Given the description of an element on the screen output the (x, y) to click on. 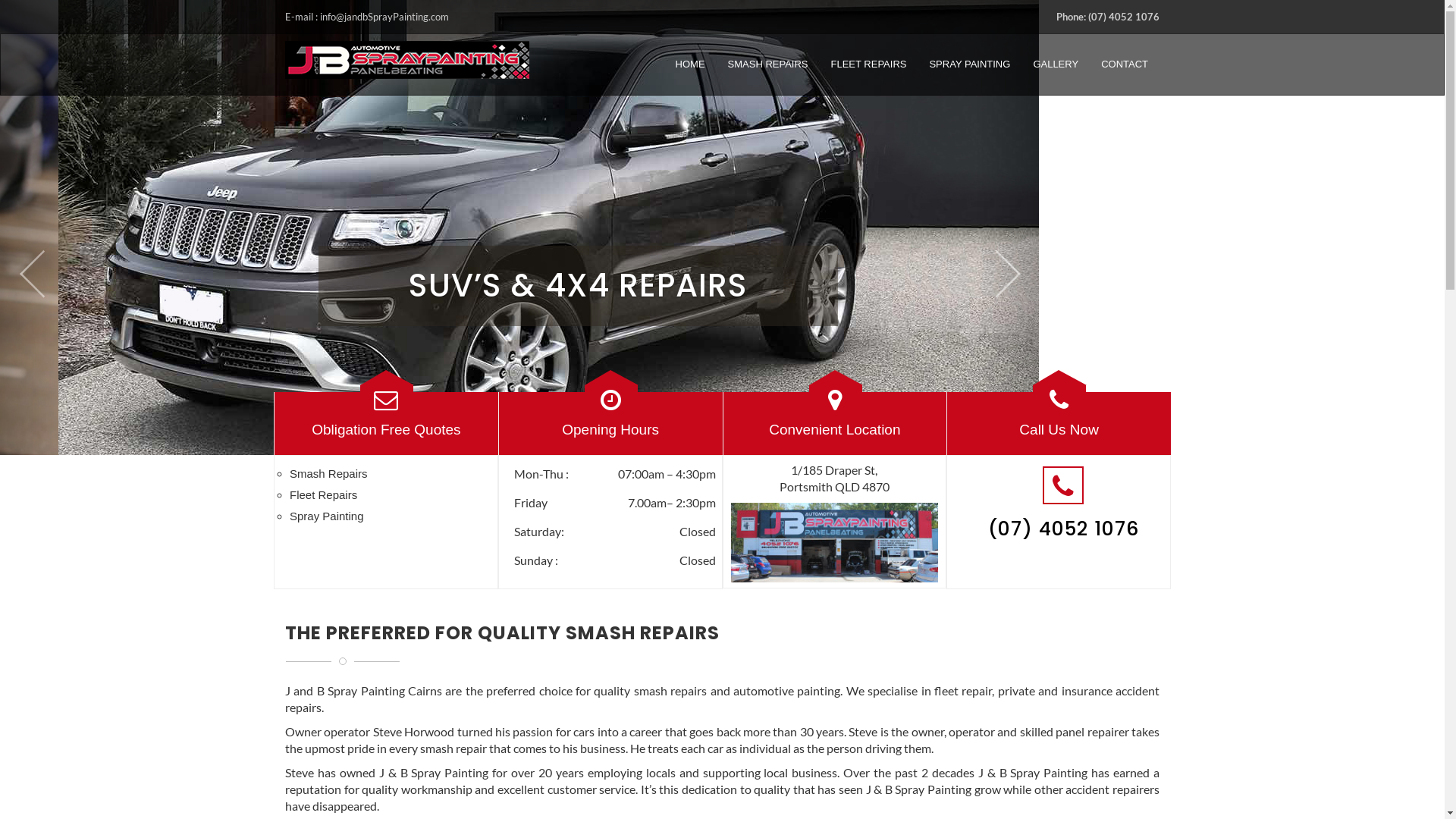
Smash Repairs Element type: text (328, 473)
GALLERY Element type: text (1055, 64)
HOME Element type: text (690, 64)
FLEET REPAIRS Element type: text (868, 64)
Spray Painting Element type: text (326, 515)
Previous Element type: text (31, 246)
SPRAY PAINTING Element type: text (969, 64)
Fleet Repairs Element type: text (323, 494)
SMASH REPAIRS Element type: text (767, 64)
Next Element type: text (1007, 246)
CONTACT Element type: text (1124, 64)
